Given the description of an element on the screen output the (x, y) to click on. 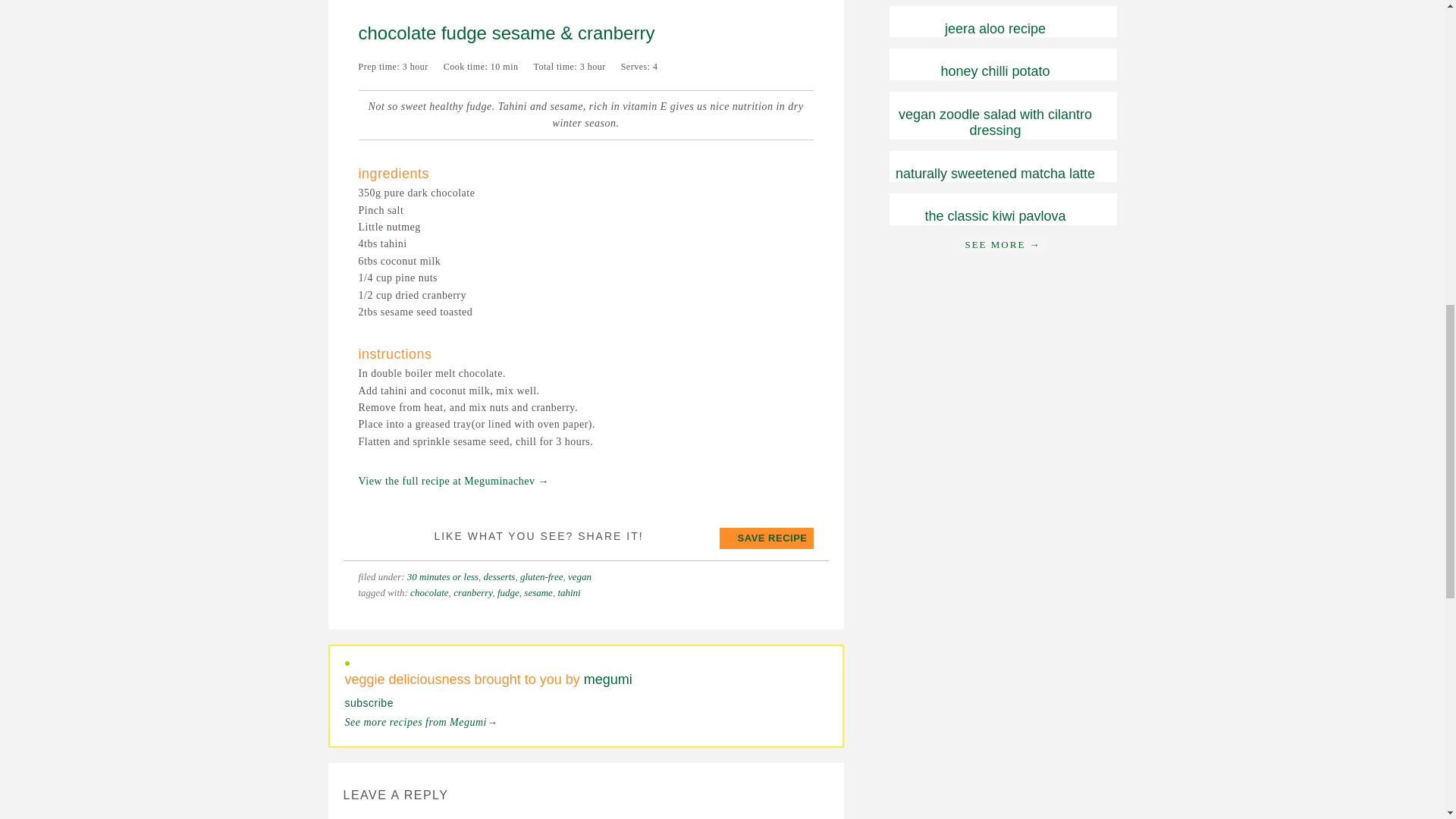
Naturally Sweetened Matcha Latte (994, 173)
chocolate (429, 592)
Honey chilli potato (994, 70)
Community (1002, 244)
desserts (499, 576)
Save Recipe (766, 537)
Vegan Zoodle Salad with Cilantro Dressing (995, 122)
30 minutes or less (443, 576)
SAVE RECIPE (766, 537)
gluten-free (541, 576)
